Given the description of an element on the screen output the (x, y) to click on. 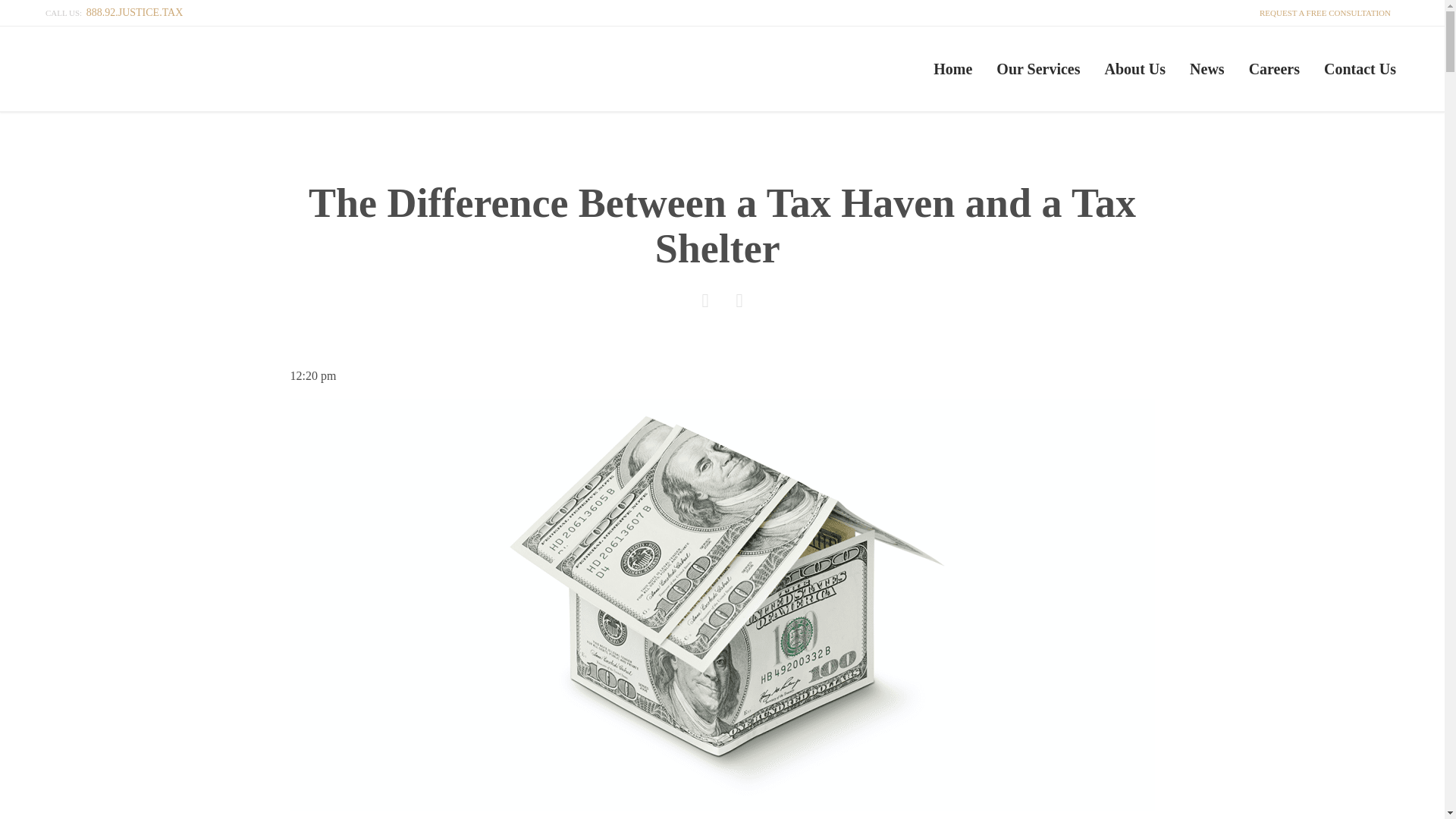
  REQUEST A FREE CONSULTATION (1323, 12)
News (1206, 68)
About Us (1134, 68)
Careers (1274, 68)
Home (952, 68)
Our Services (1038, 68)
Contact Us (1359, 68)
888.92.JUSTICE.TAX (134, 12)
Justice Tax, LLC (216, 68)
